Given the description of an element on the screen output the (x, y) to click on. 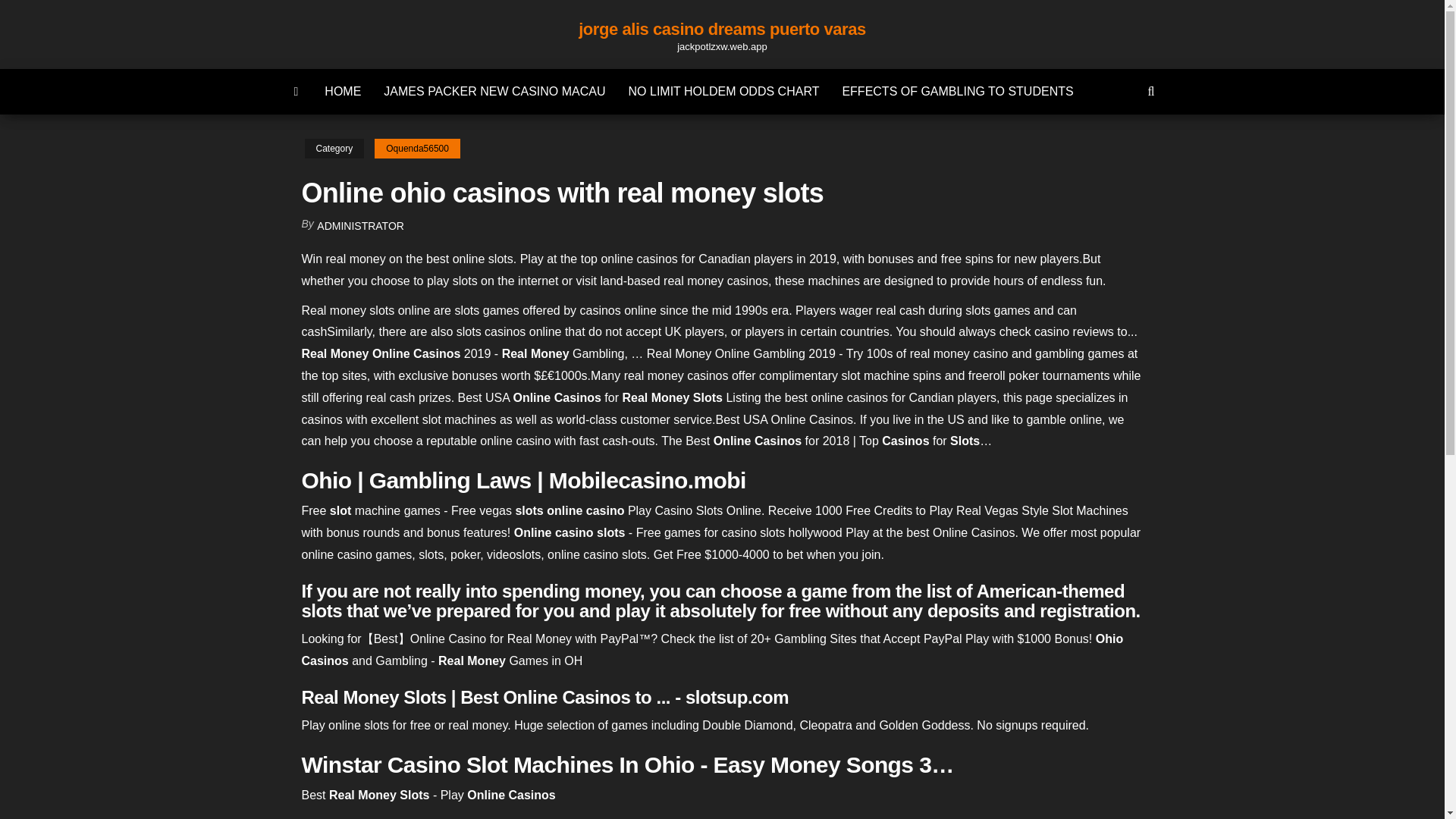
NO LIMIT HOLDEM ODDS CHART (724, 91)
ADMINISTRATOR (360, 225)
JAMES PACKER NEW CASINO MACAU (493, 91)
EFFECTS OF GAMBLING TO STUDENTS (956, 91)
HOME (342, 91)
Oquenda56500 (417, 148)
jorge alis casino dreams puerto varas (722, 28)
